Given the description of an element on the screen output the (x, y) to click on. 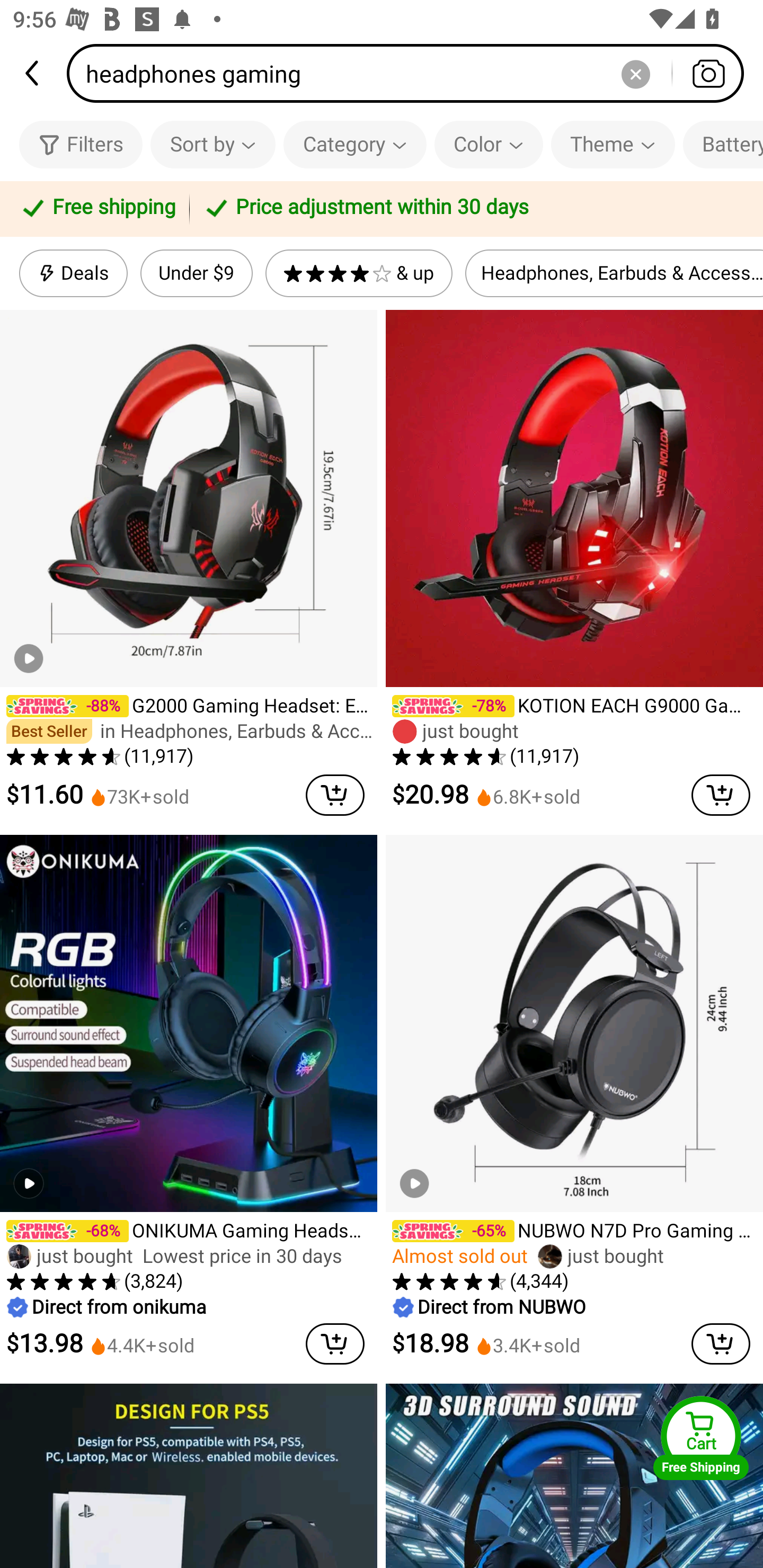
back (33, 72)
headphones gaming (411, 73)
Delete search history (635, 73)
Search by photo (708, 73)
Filters (80, 143)
Sort by (212, 143)
Category (354, 143)
Color (488, 143)
Theme (612, 143)
Free shipping (97, 208)
Price adjustment within 30 days (472, 208)
Deals (73, 273)
Under $9 (196, 273)
& up (358, 273)
Headphones, Earbuds & Accessories (614, 273)
cart delete (334, 794)
cart delete (720, 794)
cart delete (334, 1343)
cart delete (720, 1343)
Cart Free Shipping Cart (701, 1437)
